Given the description of an element on the screen output the (x, y) to click on. 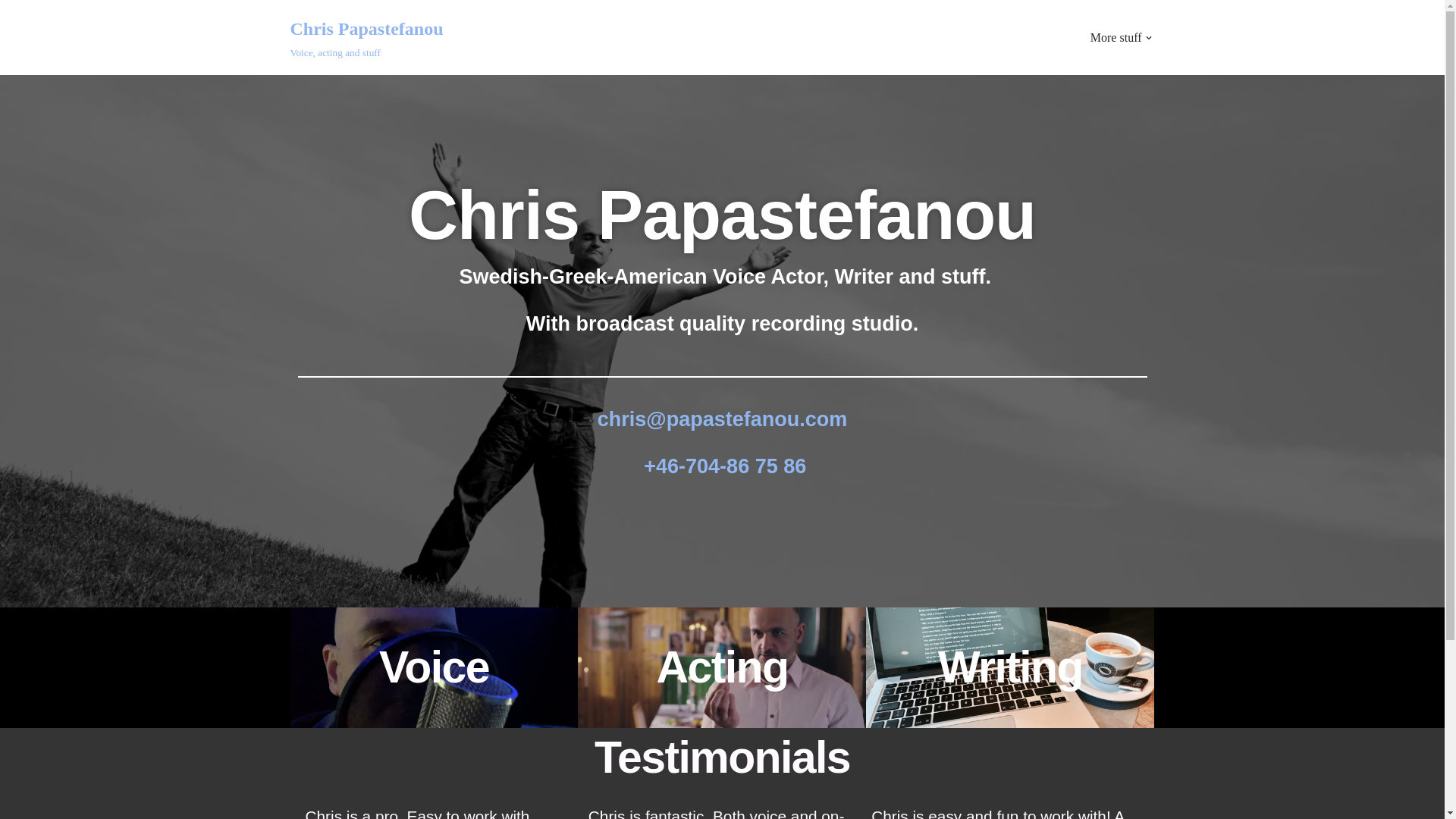
Writing (365, 37)
Skip to content (1010, 667)
More stuff (11, 31)
Acting (1115, 37)
Voice (722, 667)
